Given the description of an element on the screen output the (x, y) to click on. 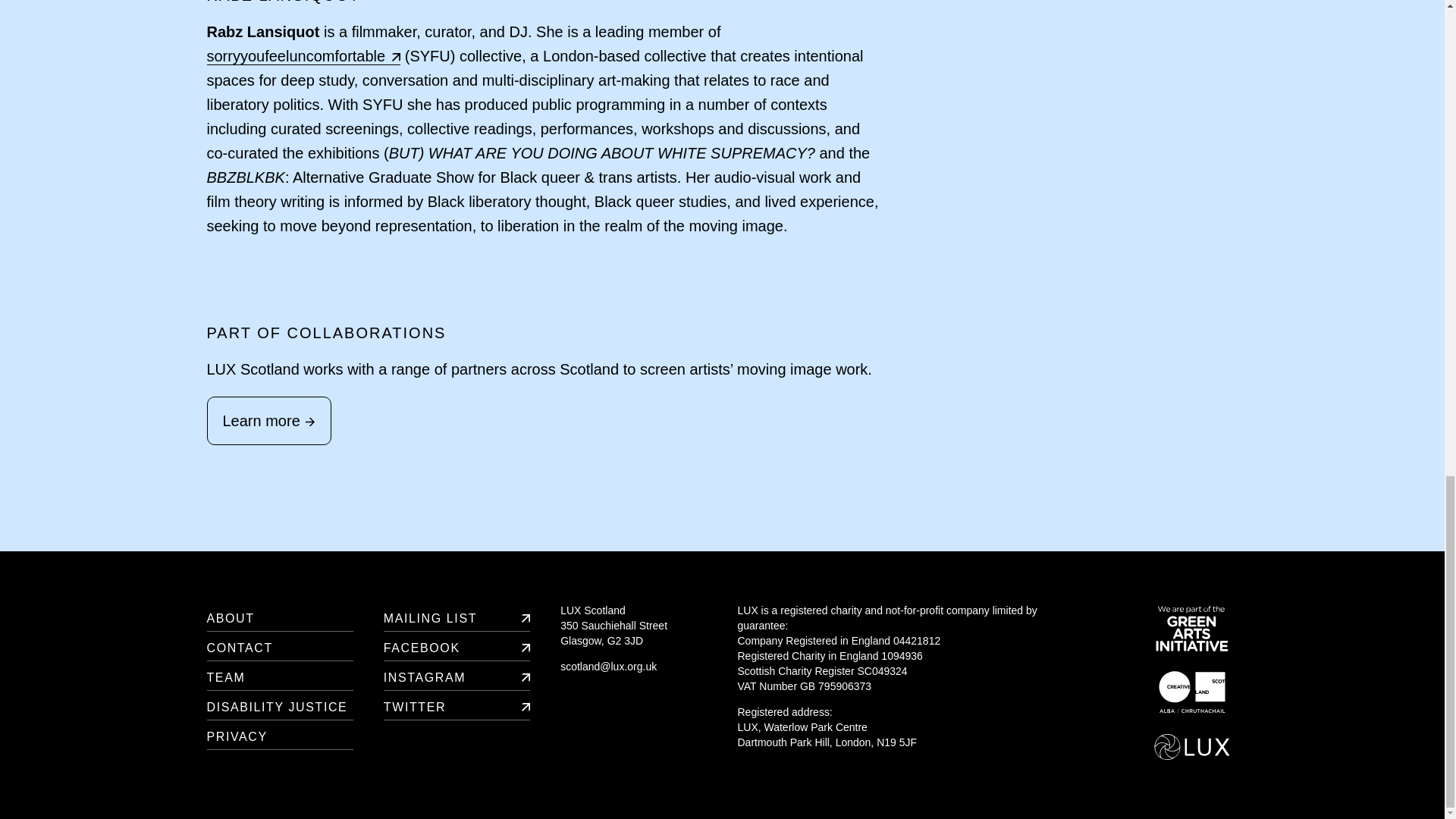
TEAM (279, 675)
ABOUT (279, 616)
CONTACT (279, 645)
INSTAGRAM (456, 675)
TWITTER (456, 705)
MAILING LIST (456, 616)
Learn more (268, 420)
PRIVACY (279, 735)
DISABILITY JUSTICE (279, 705)
FACEBOOK (456, 645)
sorryyoufeeluncomfortable (303, 56)
